Given the description of an element on the screen output the (x, y) to click on. 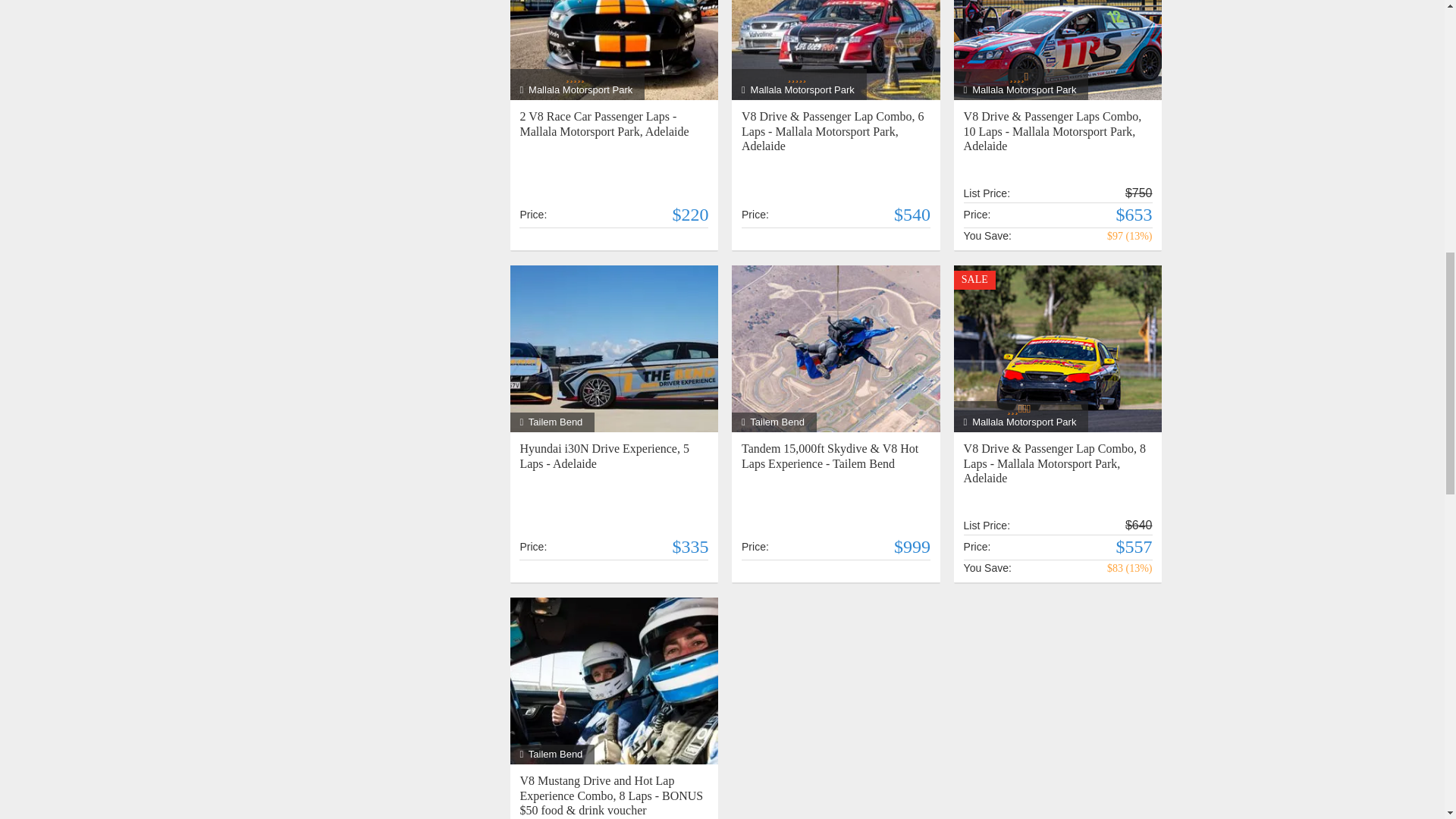
Hyundai i30N Drive Experience, 5 Laps - Adelaide (615, 347)
3.3 stars out of 5 (1020, 408)
4.3 stars out of 5 (1020, 76)
5.0 stars out of 5 (576, 76)
5.0 stars out of 5 (799, 76)
